Given the description of an element on the screen output the (x, y) to click on. 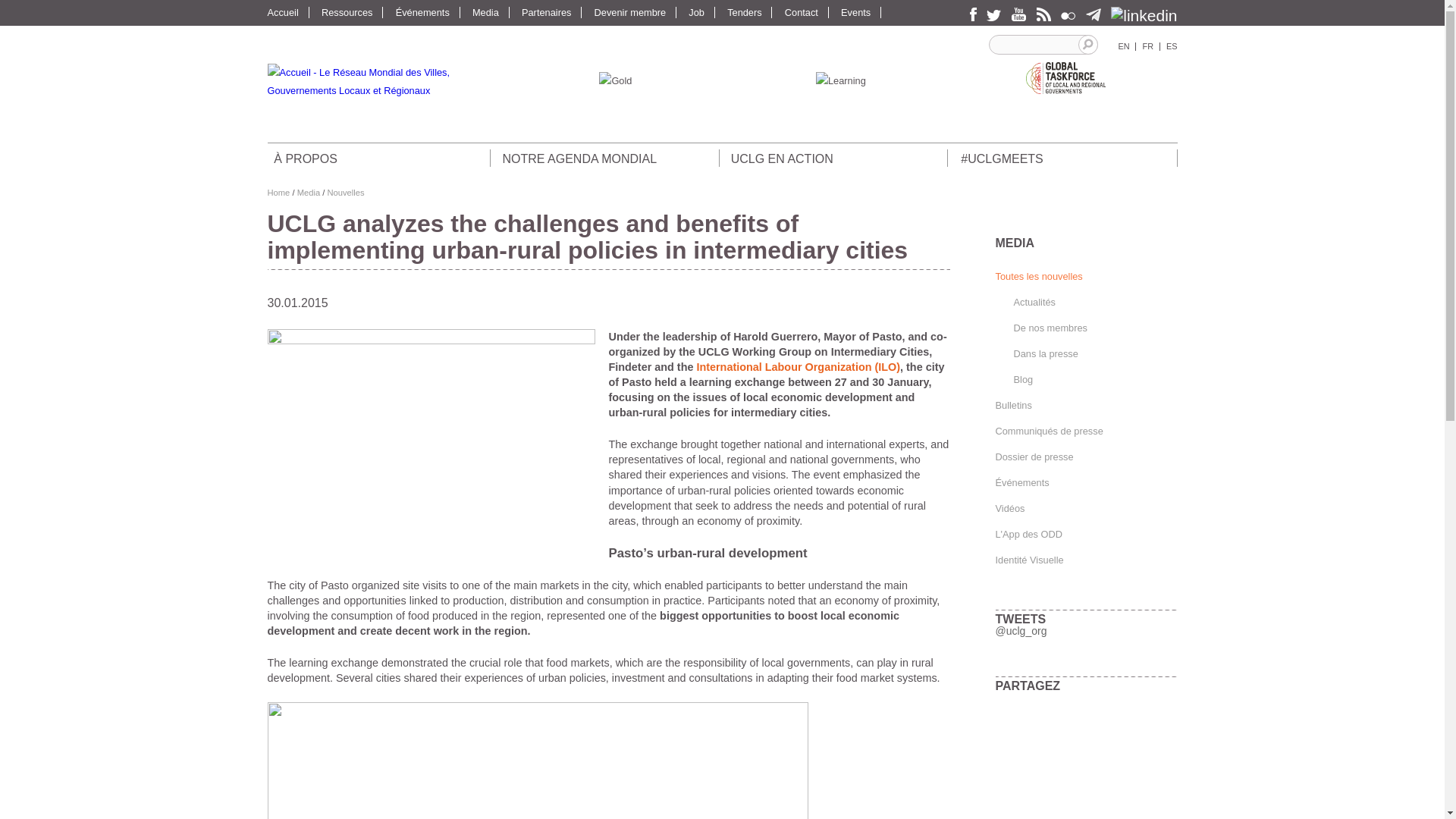
Tenders (748, 12)
Learning (840, 81)
Devenir membre (635, 12)
Recherche (1087, 44)
Job (701, 12)
Partenaires (550, 12)
EN (1123, 45)
Media (490, 12)
ES (1171, 45)
FR (1147, 45)
Ressources (351, 12)
Global Taskforce (1065, 80)
Recherche (1087, 44)
Accueil (287, 12)
